Given the description of an element on the screen output the (x, y) to click on. 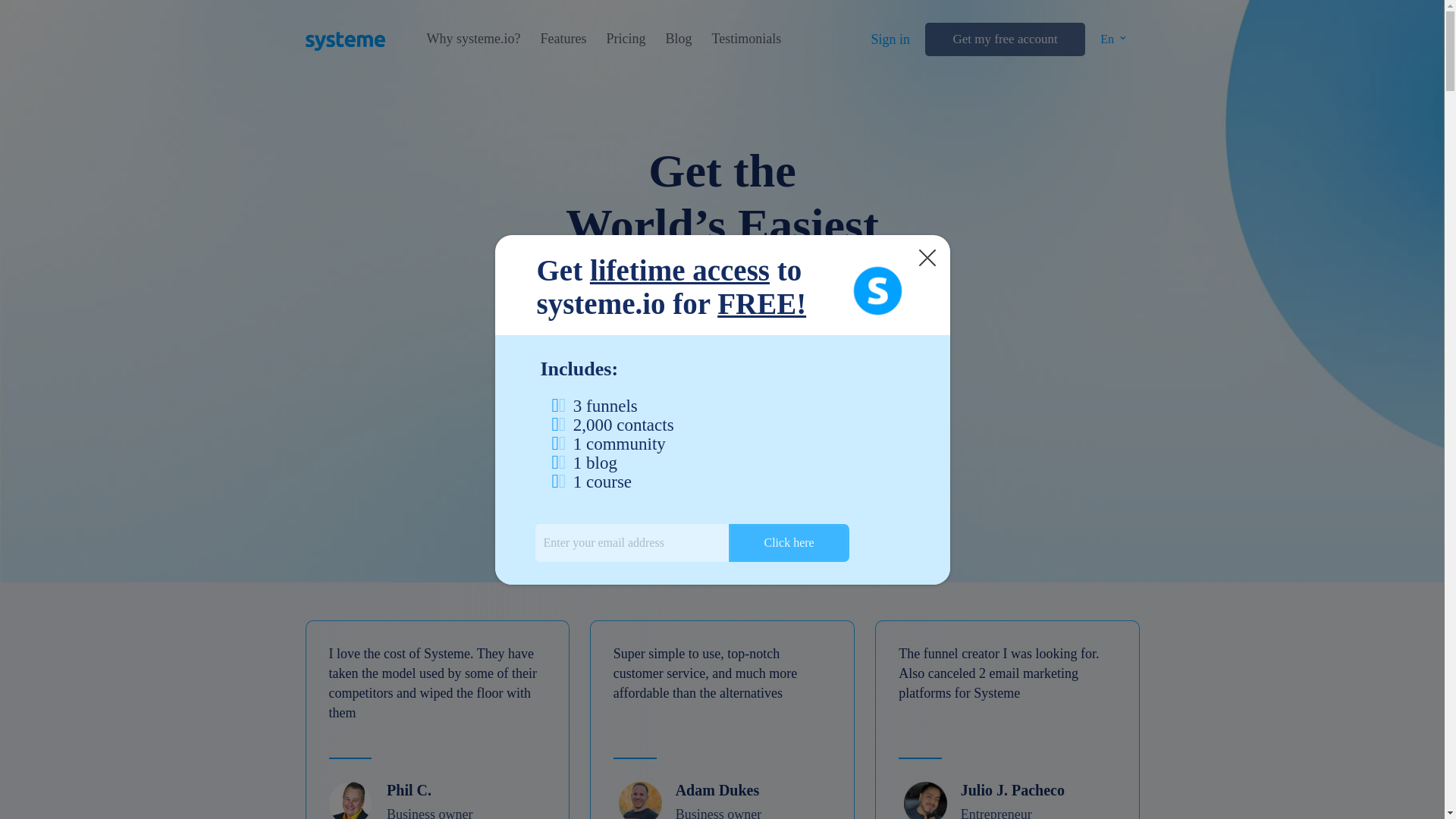
Why systeme.io? (472, 38)
Blog (678, 38)
Features (563, 38)
Pricing (625, 38)
Get my free account (1004, 39)
Sign in (890, 39)
Testimonials (745, 38)
